Given the description of an element on the screen output the (x, y) to click on. 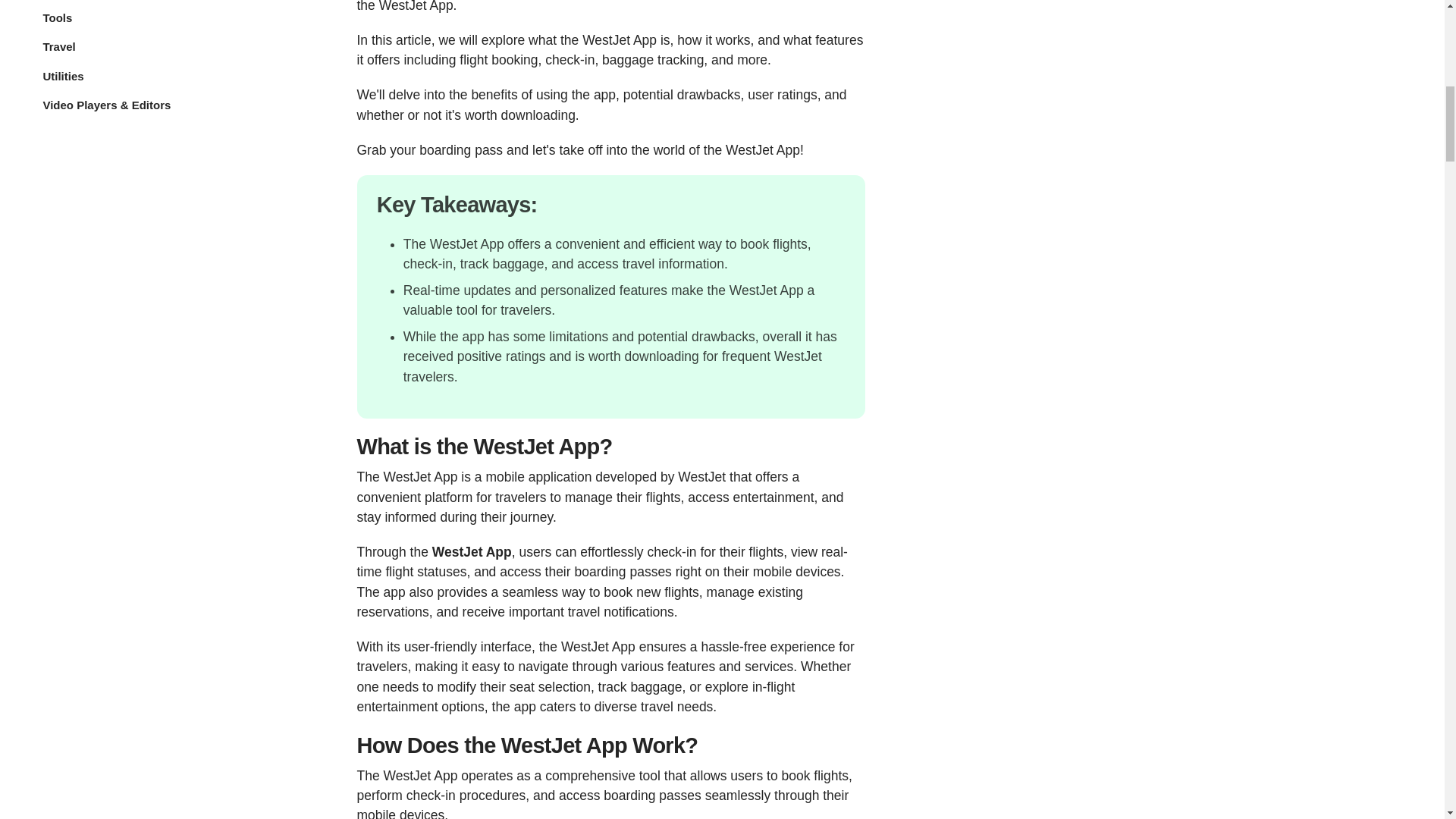
Utilities (96, 74)
Travel (96, 45)
Sports (96, 1)
Tools (96, 16)
